Given the description of an element on the screen output the (x, y) to click on. 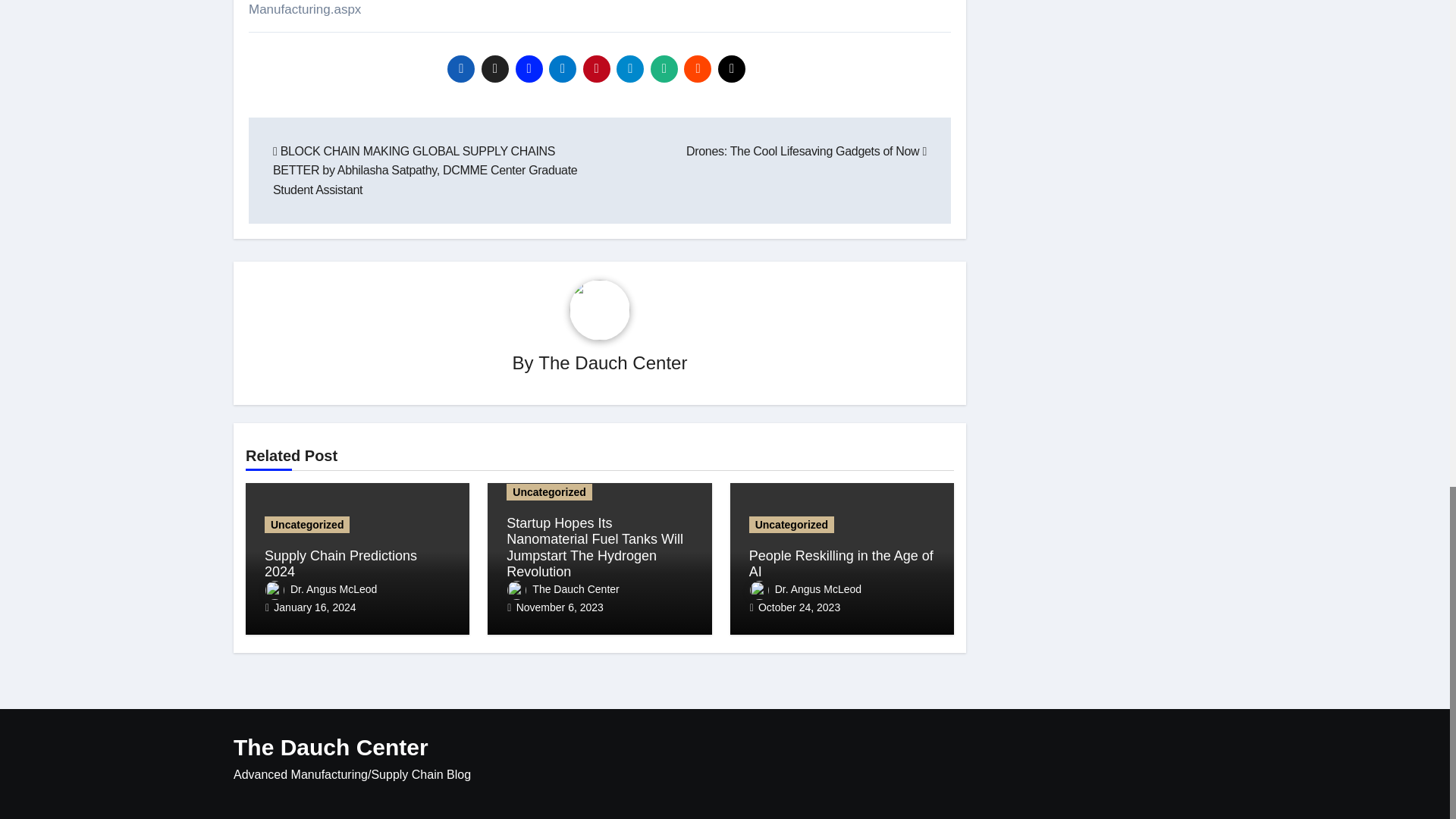
Drones: The Cool Lifesaving Gadgets of Now (805, 151)
Permalink to: Supply Chain Predictions 2024 (340, 563)
The Dauch Center (562, 589)
Supply Chain Predictions 2024 (340, 563)
Permalink to: People Reskilling in the Age of AI (841, 563)
Uncategorized (548, 492)
Uncategorized (306, 524)
The Dauch Center (612, 362)
